Given the description of an element on the screen output the (x, y) to click on. 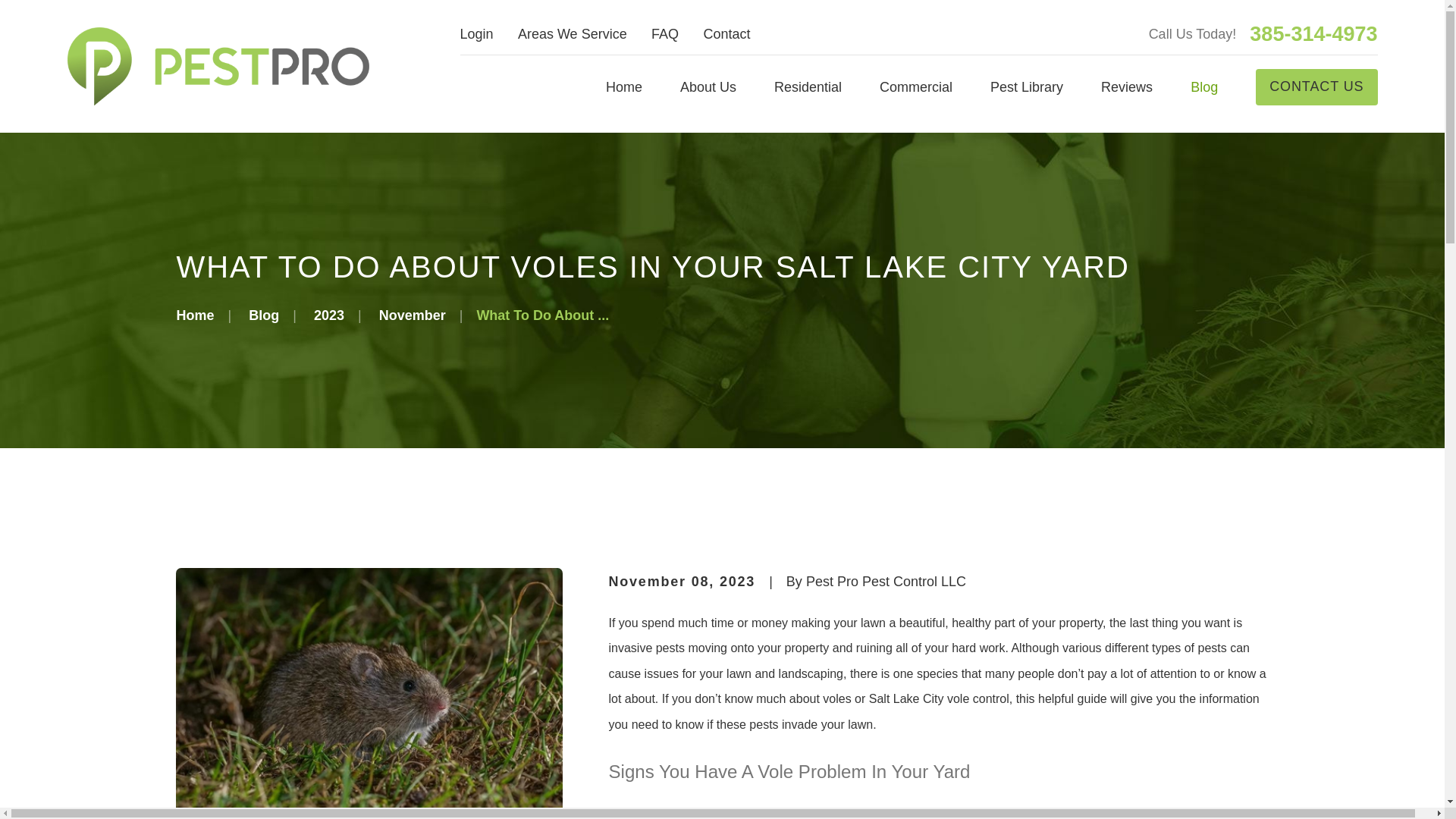
Commercial (915, 86)
Reviews (1126, 86)
Go Home (195, 314)
Home (623, 86)
Home (217, 65)
Pest Library (1026, 86)
Login (476, 33)
Areas We Service (572, 33)
About Us (707, 86)
385-314-4973 (1313, 34)
